Given the description of an element on the screen output the (x, y) to click on. 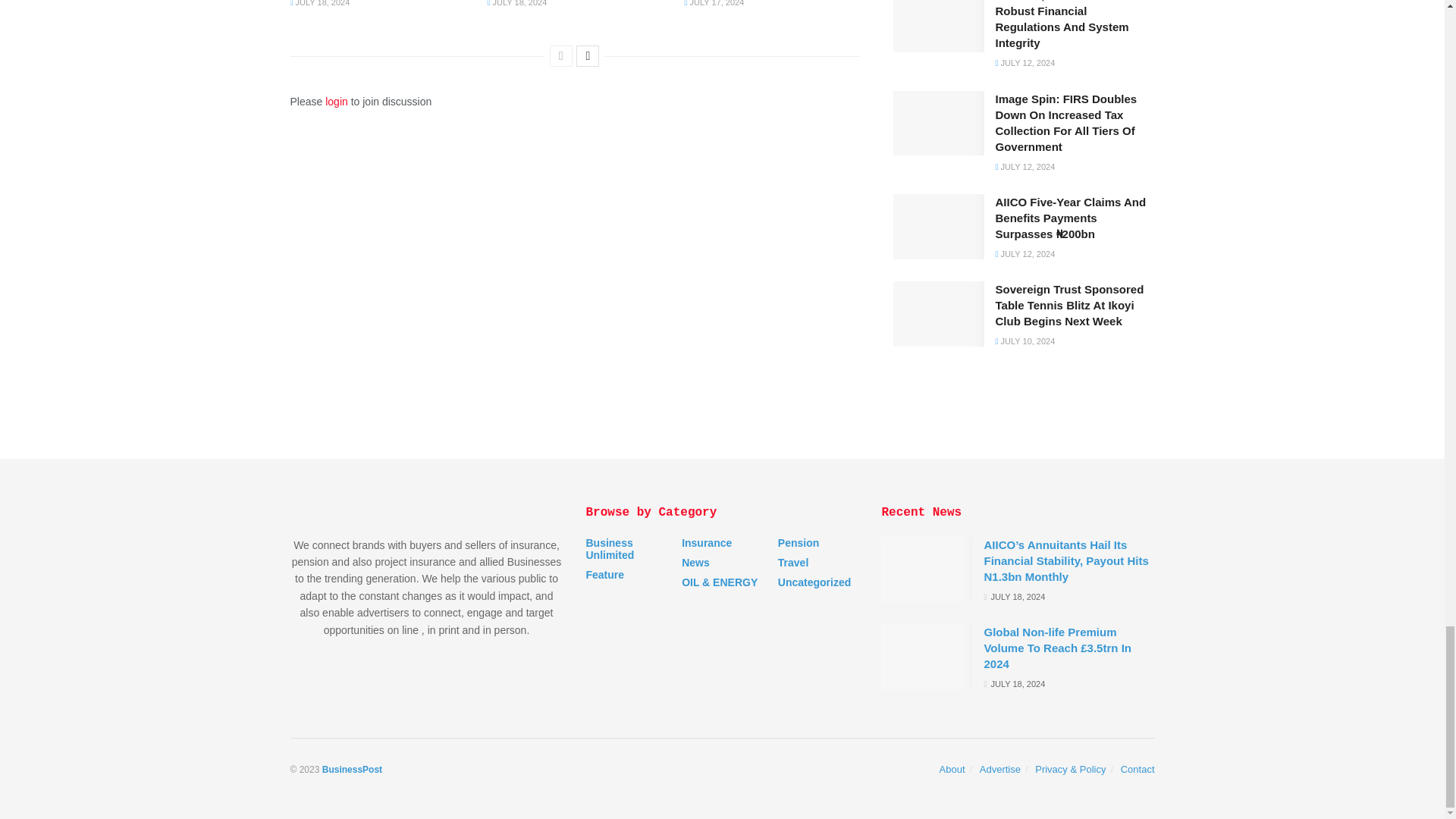
Previous (561, 55)
Business Post (351, 769)
Next (587, 55)
